Given the description of an element on the screen output the (x, y) to click on. 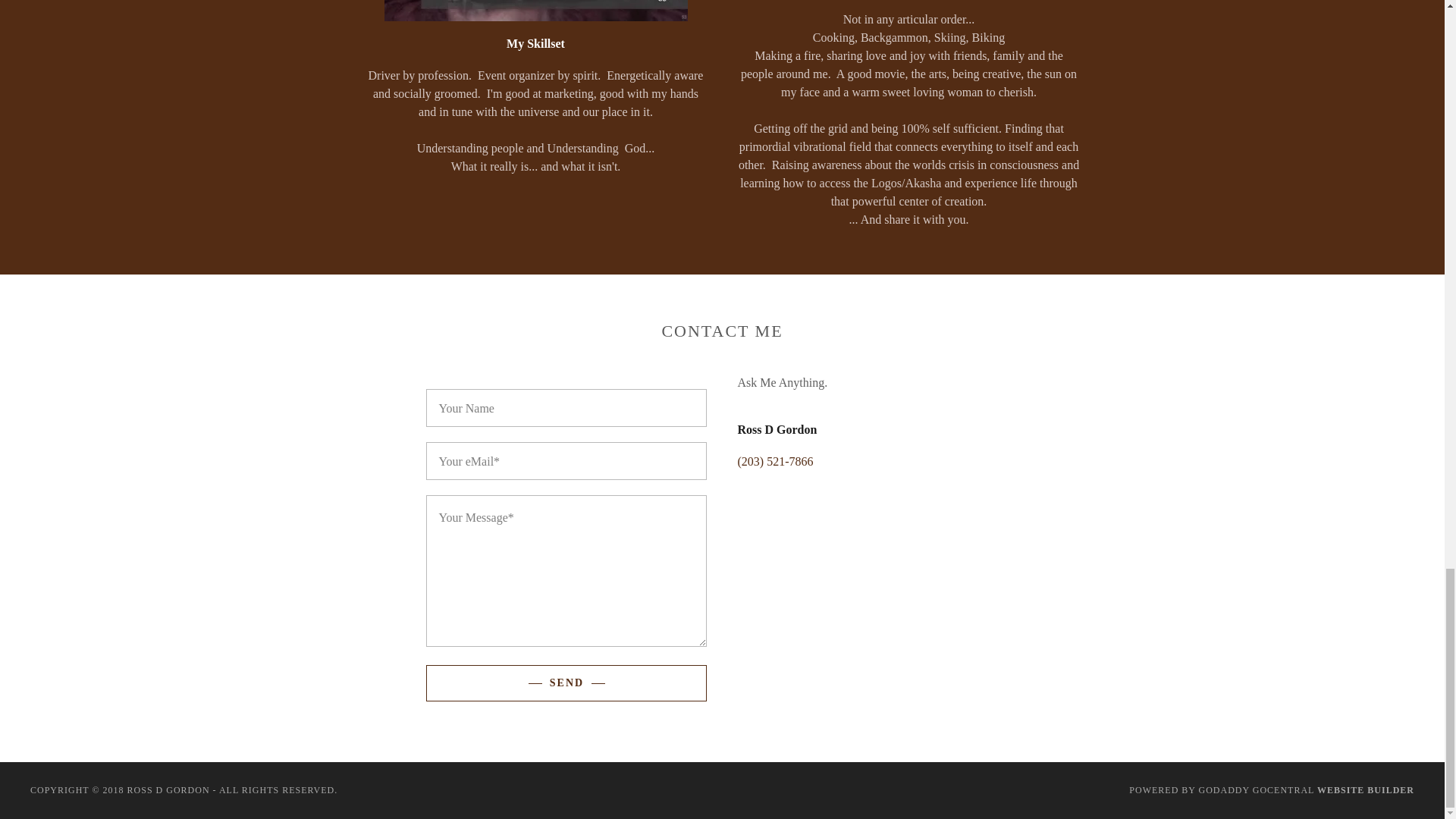
WEBSITE BUILDER (1365, 789)
SEND (566, 683)
